Given the description of an element on the screen output the (x, y) to click on. 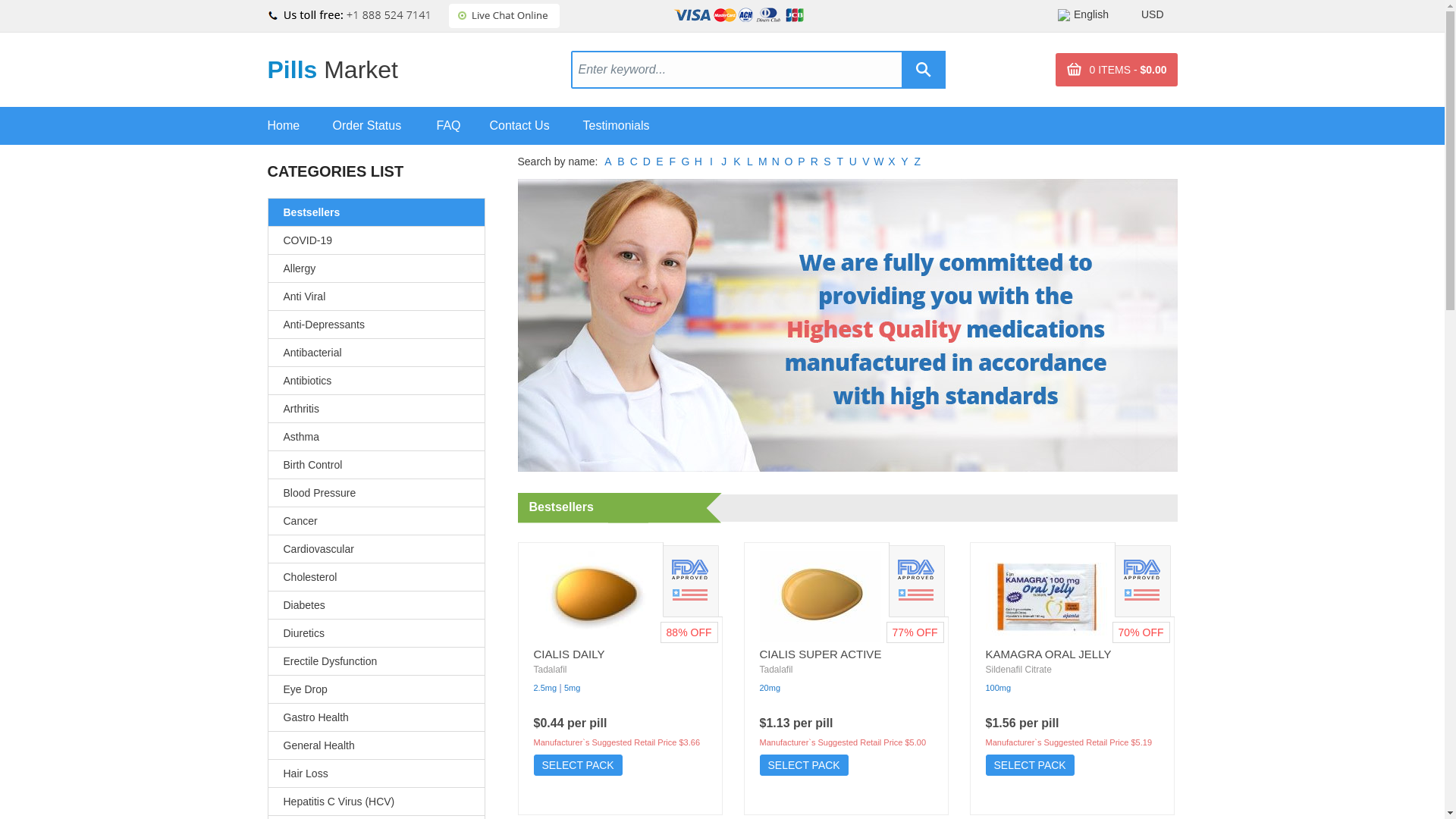
Cialis Super Active (820, 595)
Pills Market (331, 69)
Testimonials (633, 125)
Tadalafil (776, 669)
Enter keyword... (739, 68)
Contact Us (536, 125)
Sildenafil Citrate (1018, 669)
Order Status (383, 125)
Cialis Daily (594, 595)
Home (298, 125)
